Given the description of an element on the screen output the (x, y) to click on. 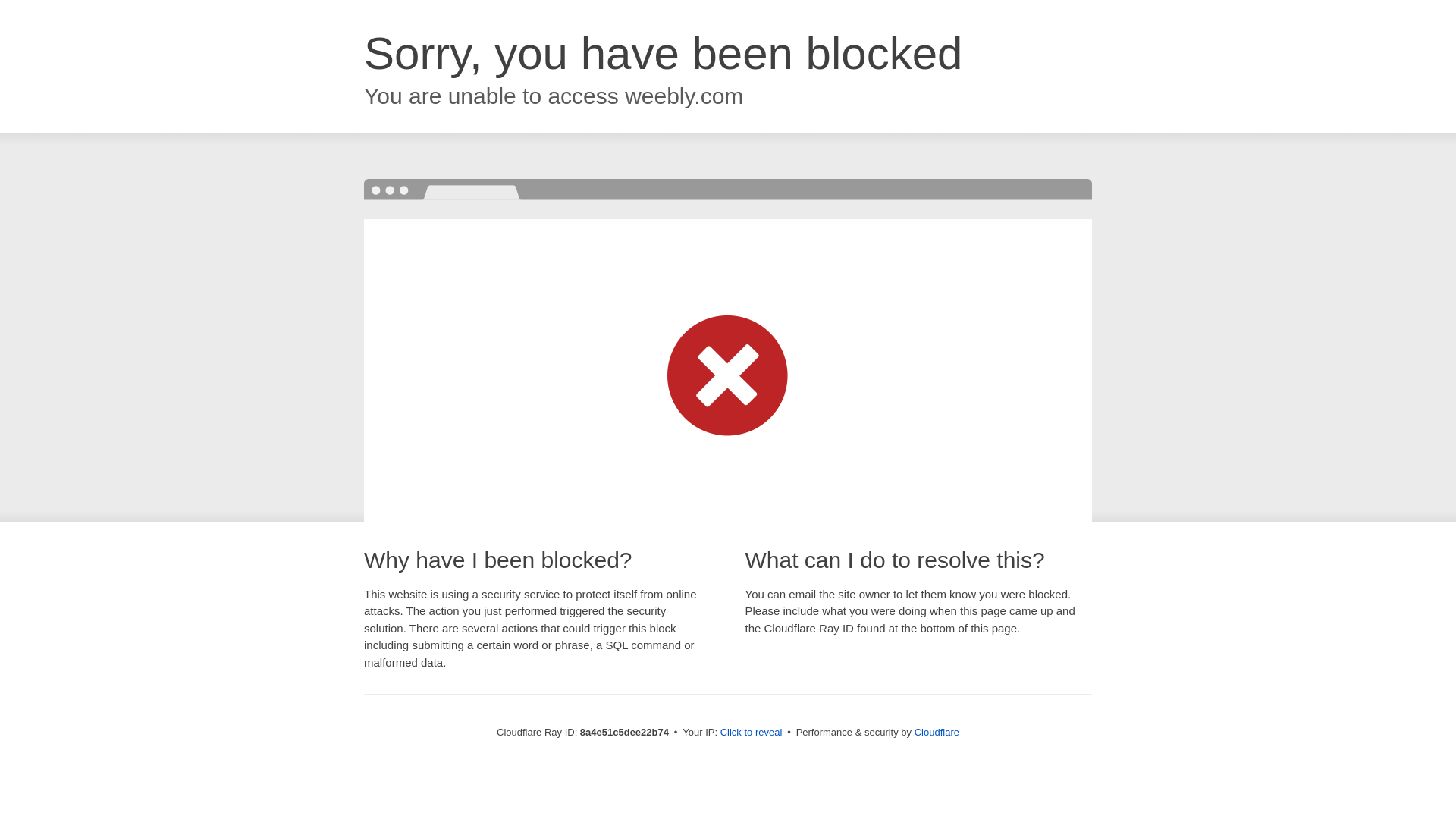
Click to reveal (751, 732)
Cloudflare (936, 731)
